Given the description of an element on the screen output the (x, y) to click on. 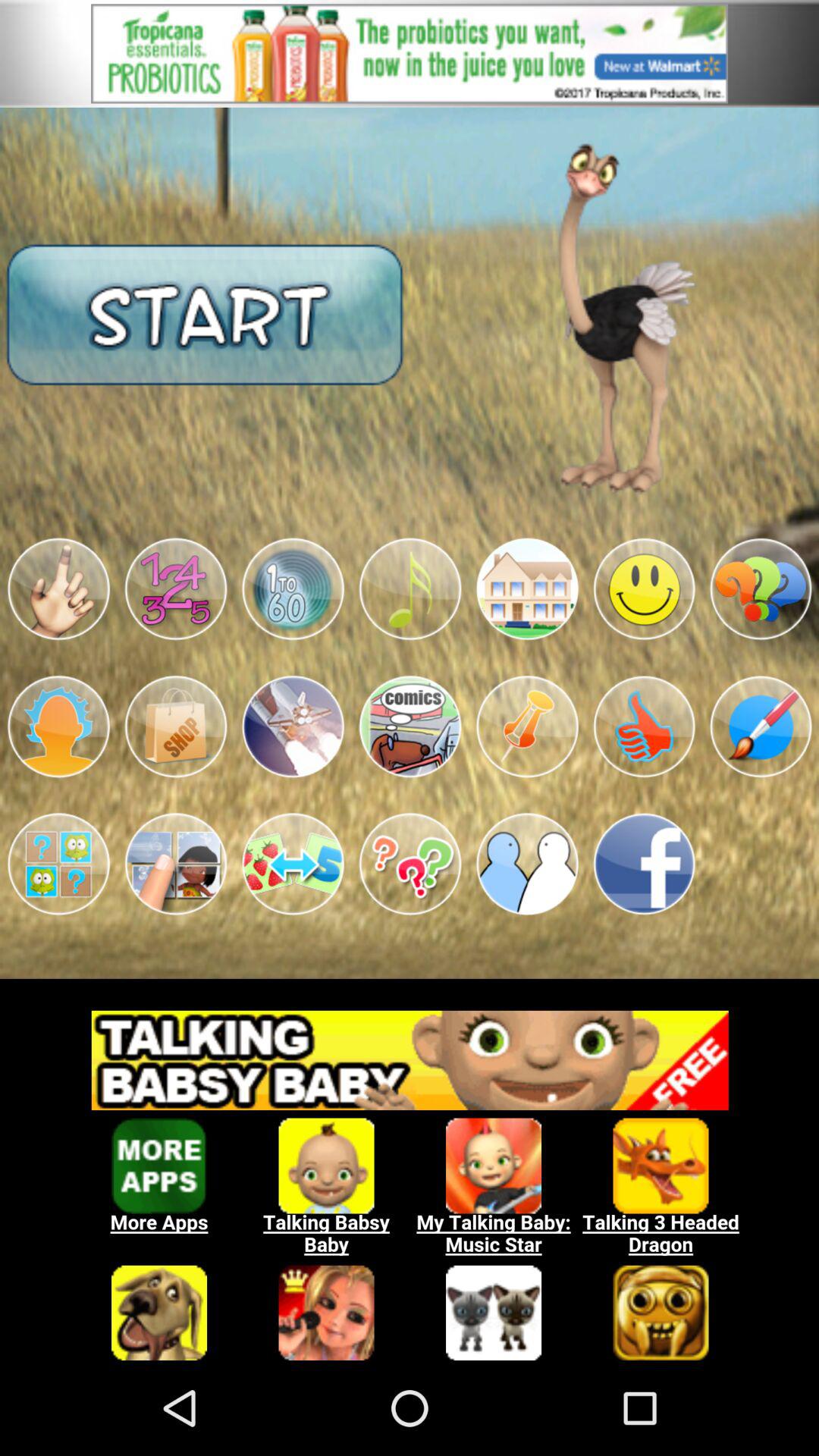
click to home icon (526, 589)
